Given the description of an element on the screen output the (x, y) to click on. 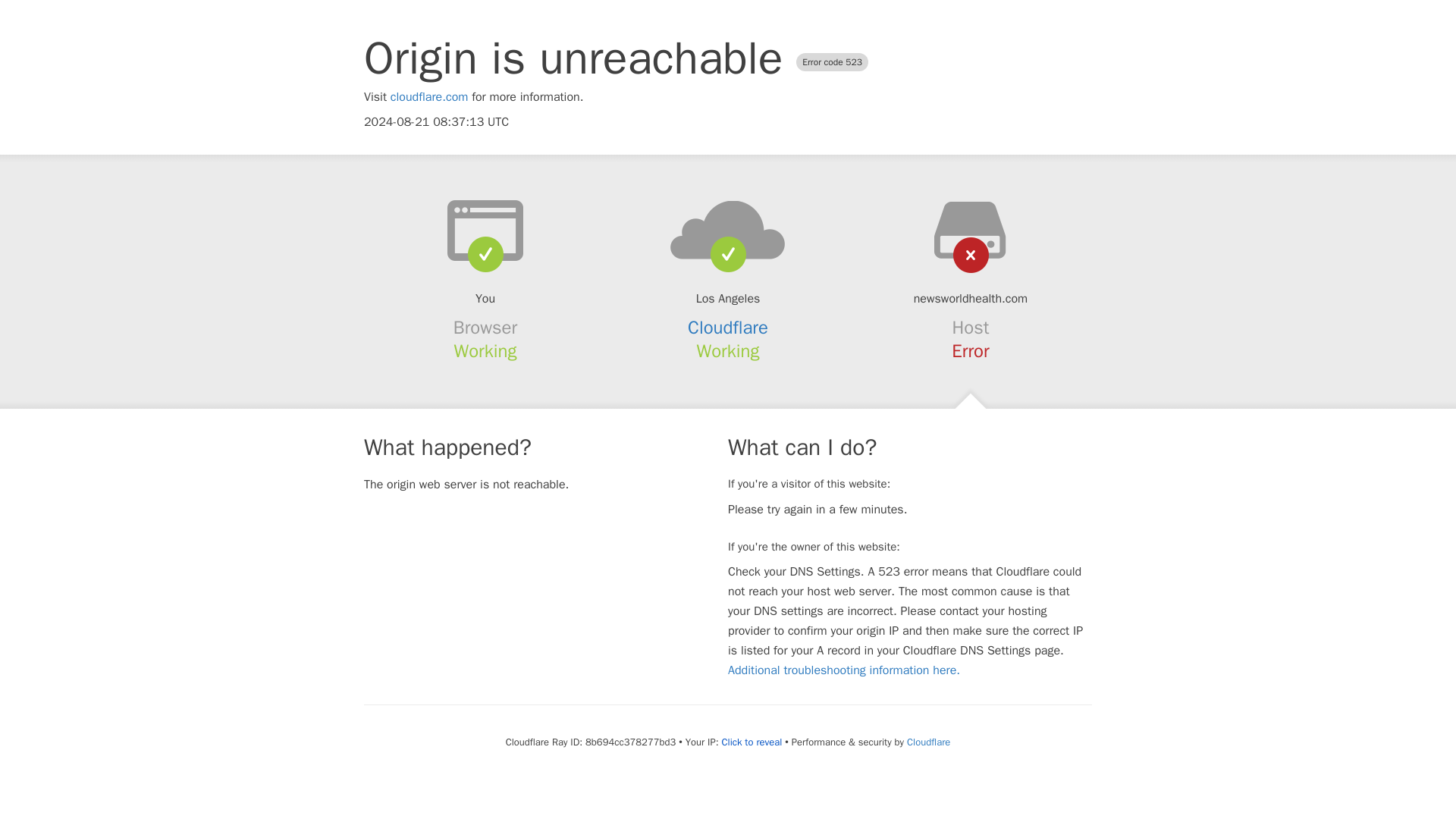
Click to reveal (750, 742)
Additional troubleshooting information here. (843, 670)
cloudflare.com (429, 96)
Cloudflare (727, 327)
Cloudflare (928, 741)
